Given the description of an element on the screen output the (x, y) to click on. 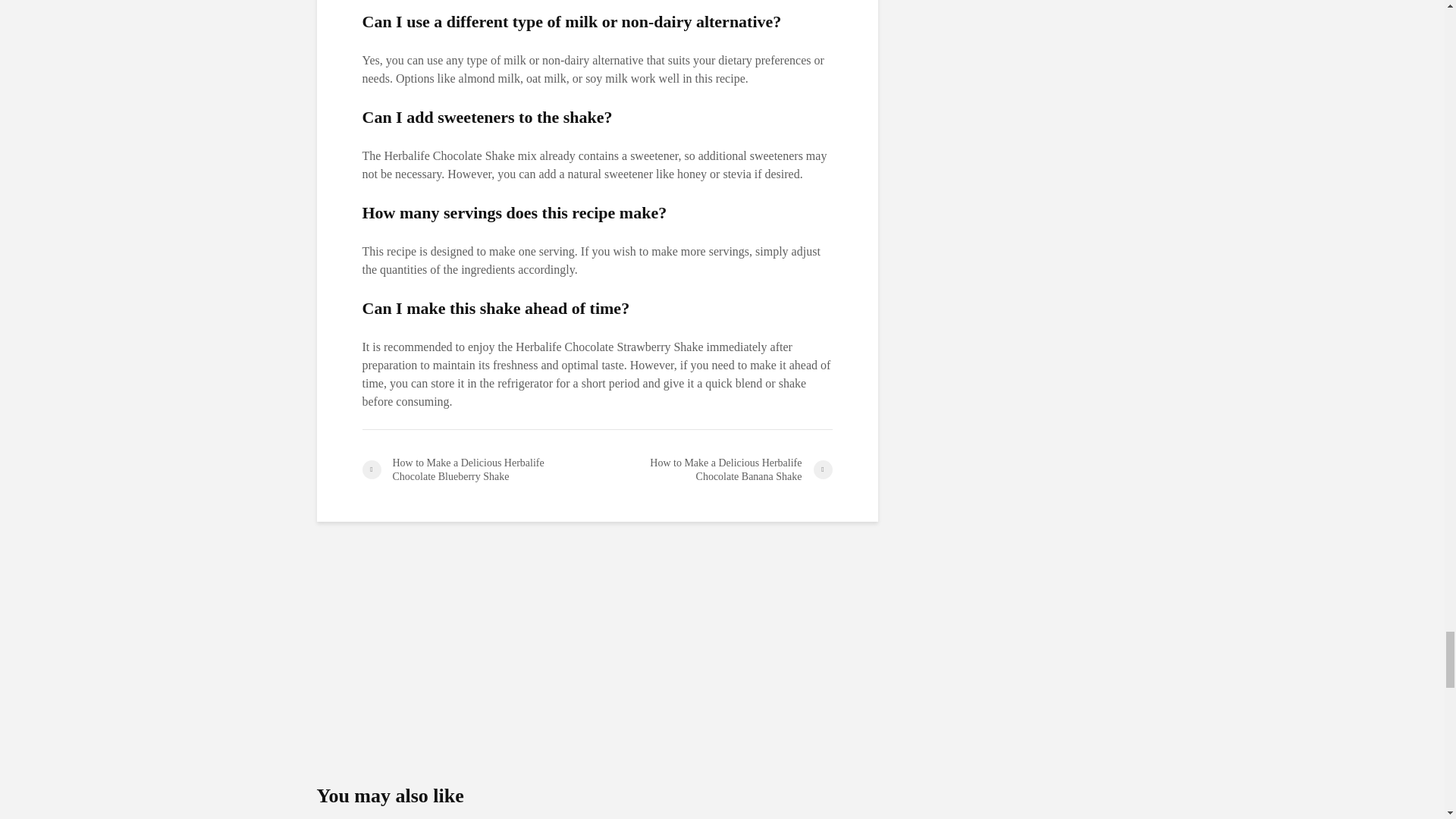
Become a Preferred Member (597, 651)
How to Make a Delicious Herbalife Chocolate Blueberry Shake (479, 470)
